Given the description of an element on the screen output the (x, y) to click on. 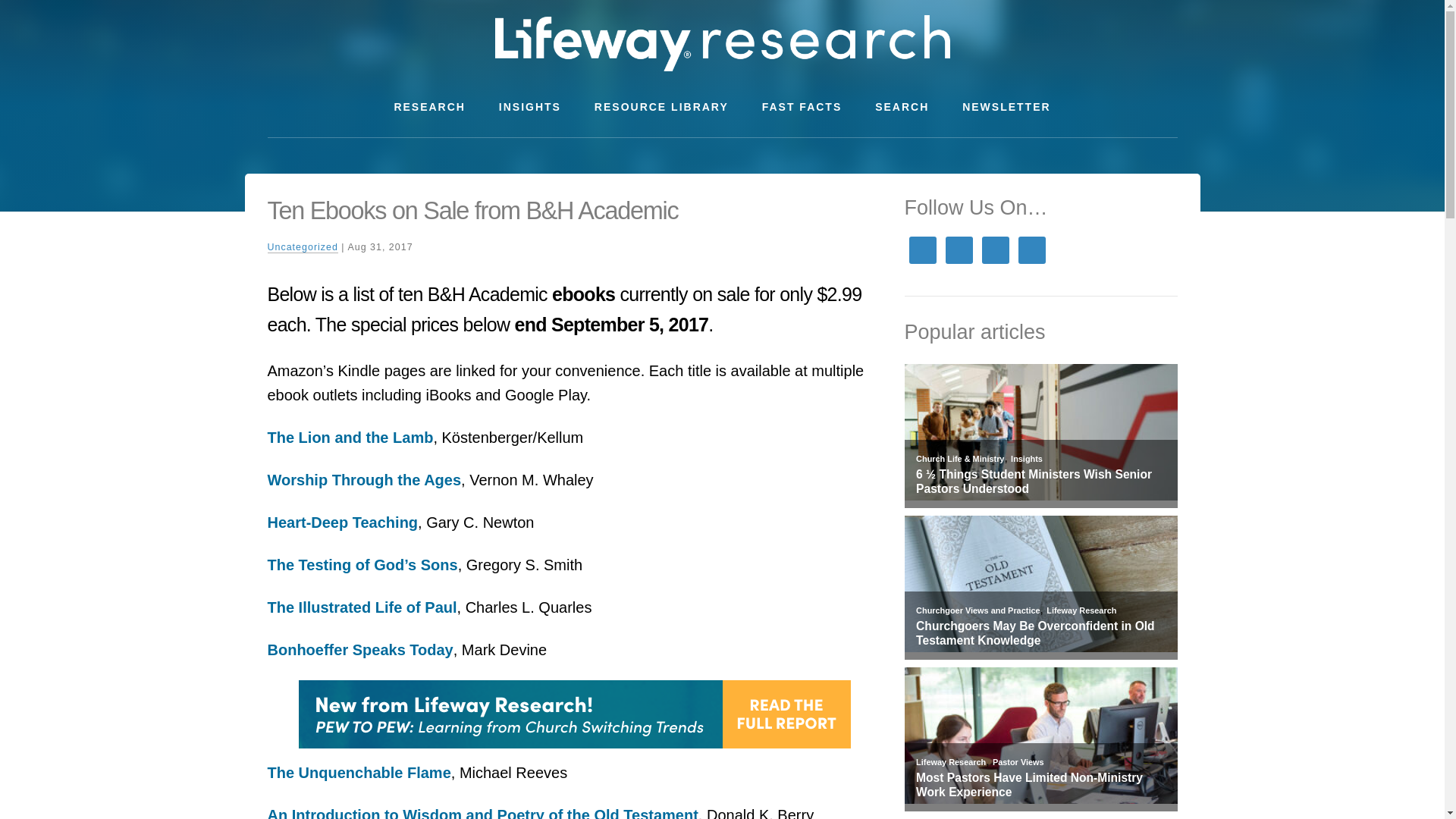
Pastor Views (1017, 761)
The Lion and the Lamb (349, 437)
Bonhoeffer Speaks Today (359, 649)
INSIGHTS (529, 106)
Churchgoer Views and Practice (977, 610)
Heart-Deep Teaching (341, 522)
Uncategorized (301, 247)
An Introduction to Wisdom and Poetry of the Old Testament (481, 812)
Insights (1026, 458)
